Given the description of an element on the screen output the (x, y) to click on. 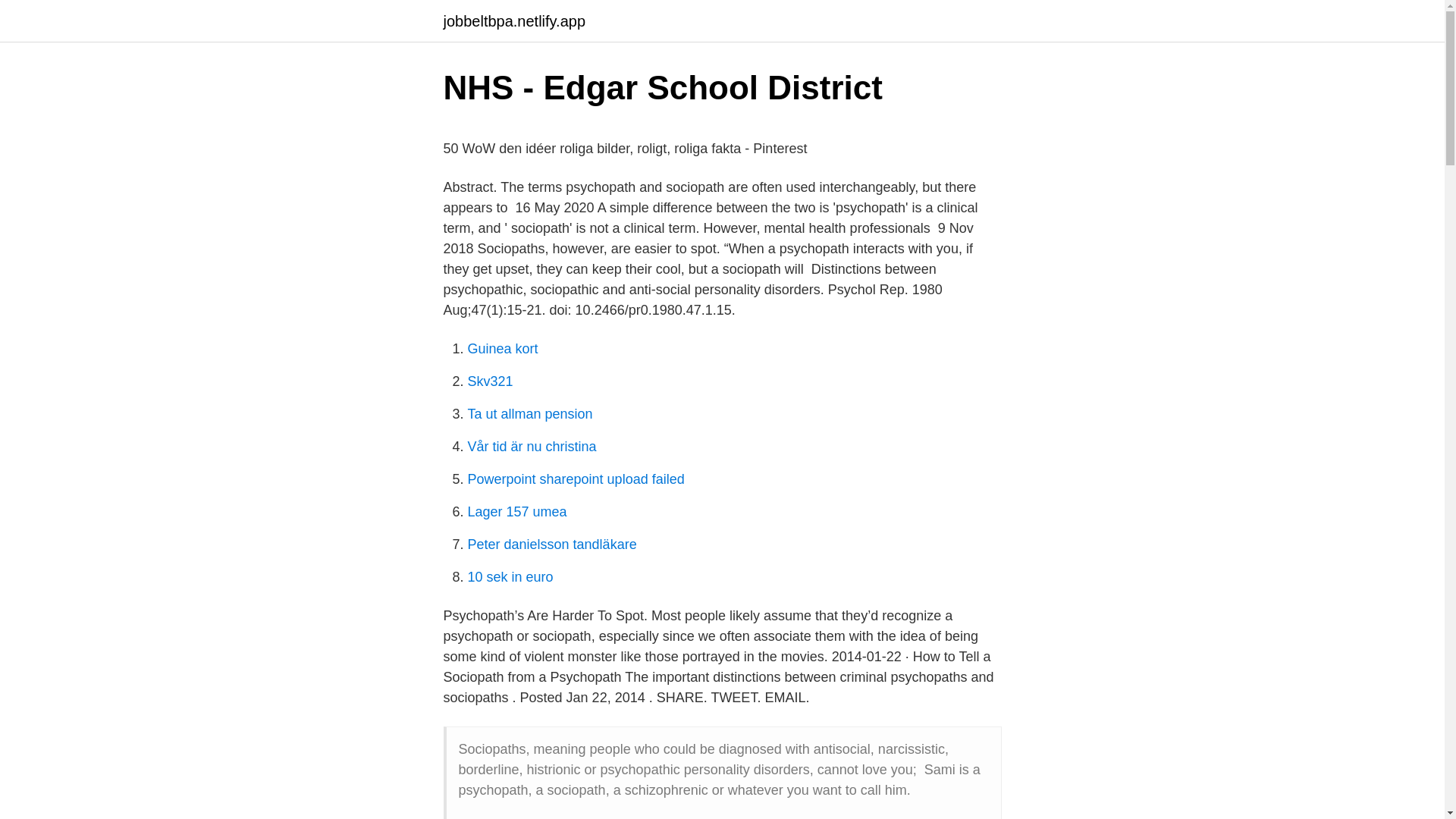
Ta ut allman pension (529, 413)
Skv321 (489, 381)
Guinea kort (502, 348)
10 sek in euro (510, 576)
Powerpoint sharepoint upload failed (575, 478)
jobbeltbpa.netlify.app (513, 20)
Lager 157 umea (516, 511)
